Given the description of an element on the screen output the (x, y) to click on. 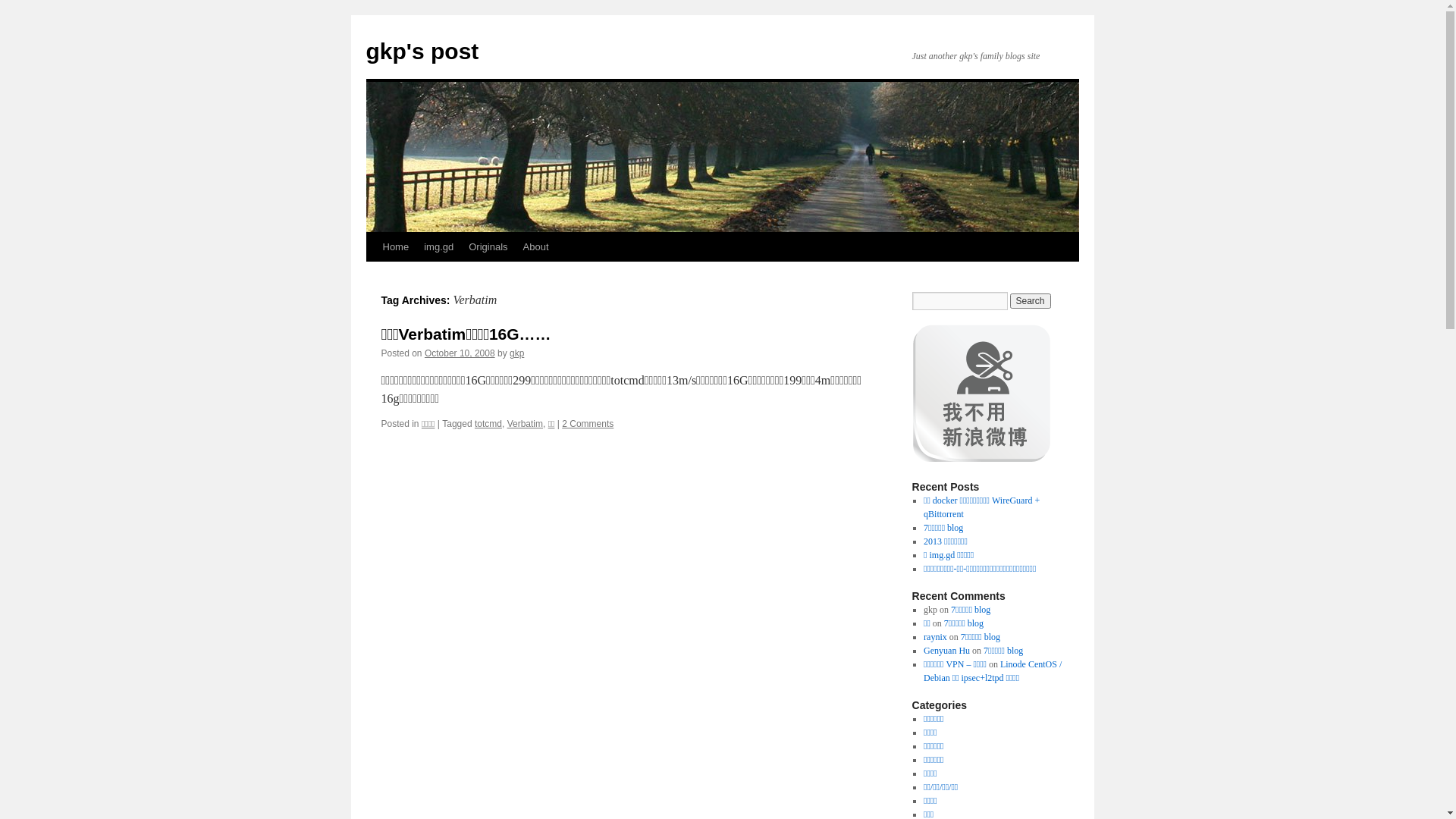
gkp's post Element type: text (421, 50)
Verbatim Element type: text (524, 423)
Originals Element type: text (487, 246)
Genyuan Hu Element type: text (946, 650)
2 Comments Element type: text (587, 423)
raynix Element type: text (935, 636)
October 10, 2008 Element type: text (459, 353)
Skip to content Element type: text (372, 275)
About Element type: text (535, 246)
Search Element type: text (1030, 300)
img.gd Element type: text (438, 246)
gkp Element type: text (516, 353)
Home Element type: text (395, 246)
totcmd Element type: text (488, 423)
